Given the description of an element on the screen output the (x, y) to click on. 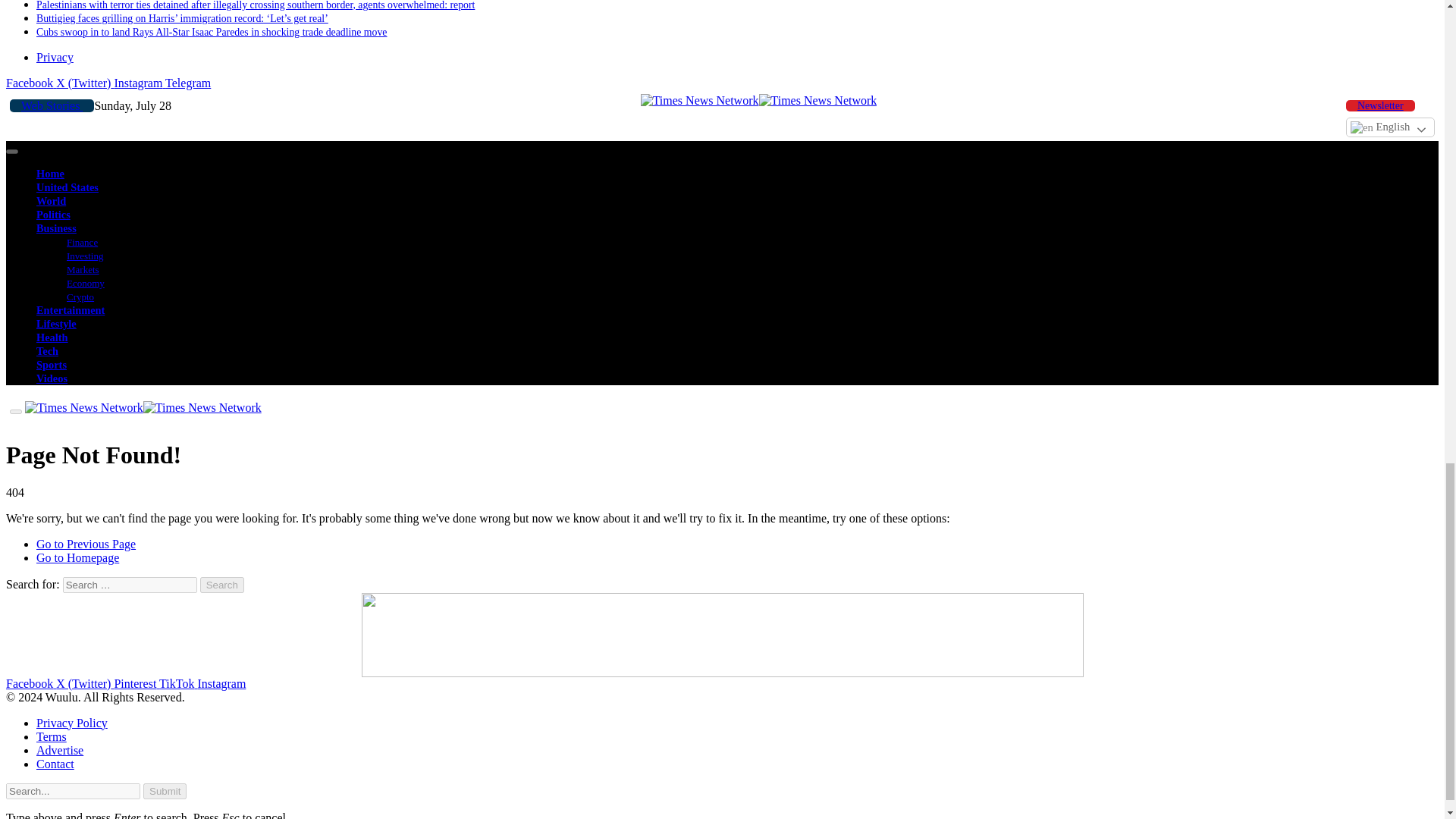
Search (222, 584)
Times News Network (758, 100)
Search (222, 584)
Facebook (30, 82)
Privacy (55, 56)
